Given the description of an element on the screen output the (x, y) to click on. 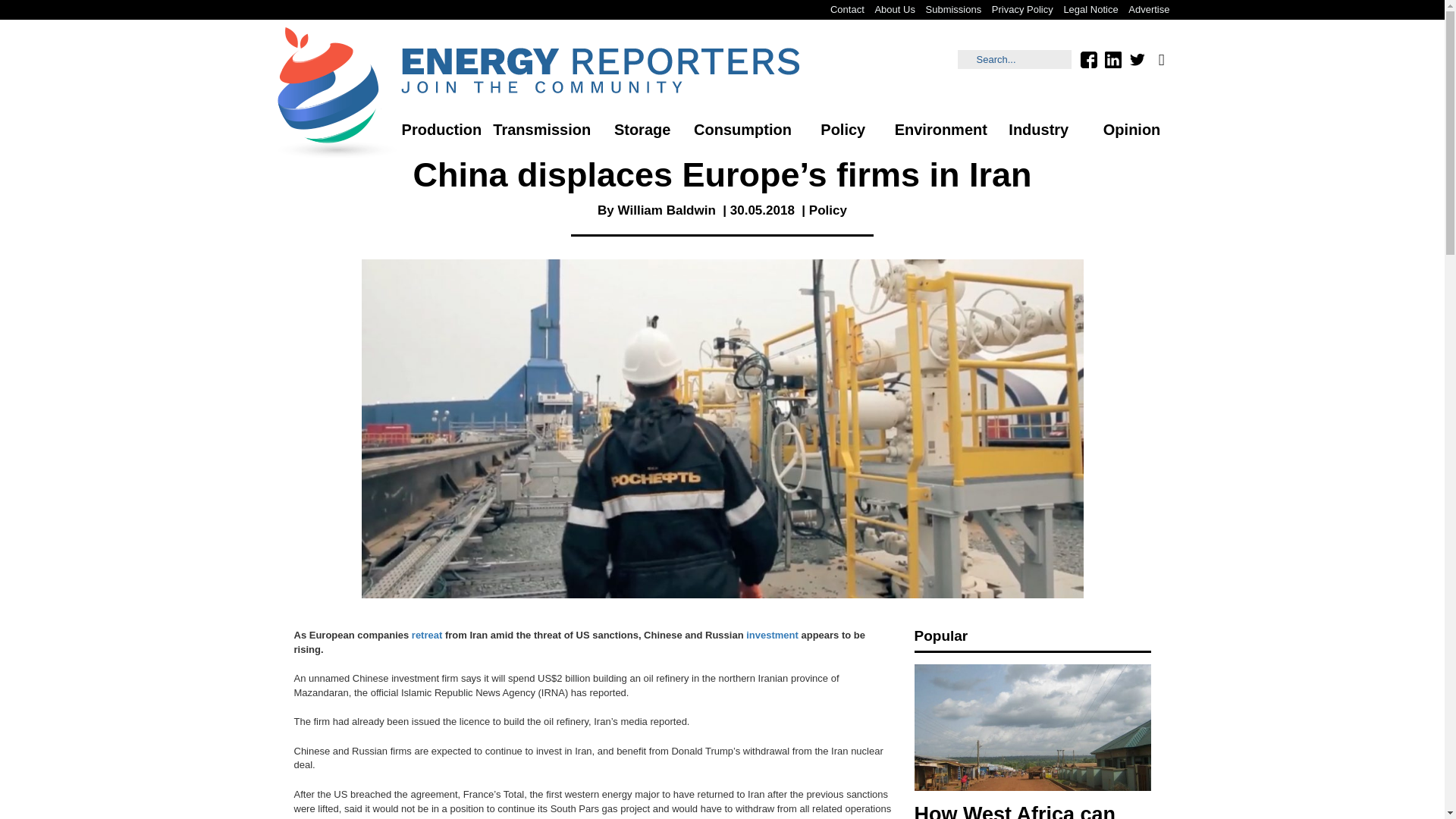
Transmission (542, 129)
30.05.2018 (762, 210)
RSS (1160, 59)
Industry (1038, 129)
retreat (427, 634)
Search (1014, 58)
Facebook (1087, 59)
investment (771, 634)
Opinion (1131, 129)
